Given the description of an element on the screen output the (x, y) to click on. 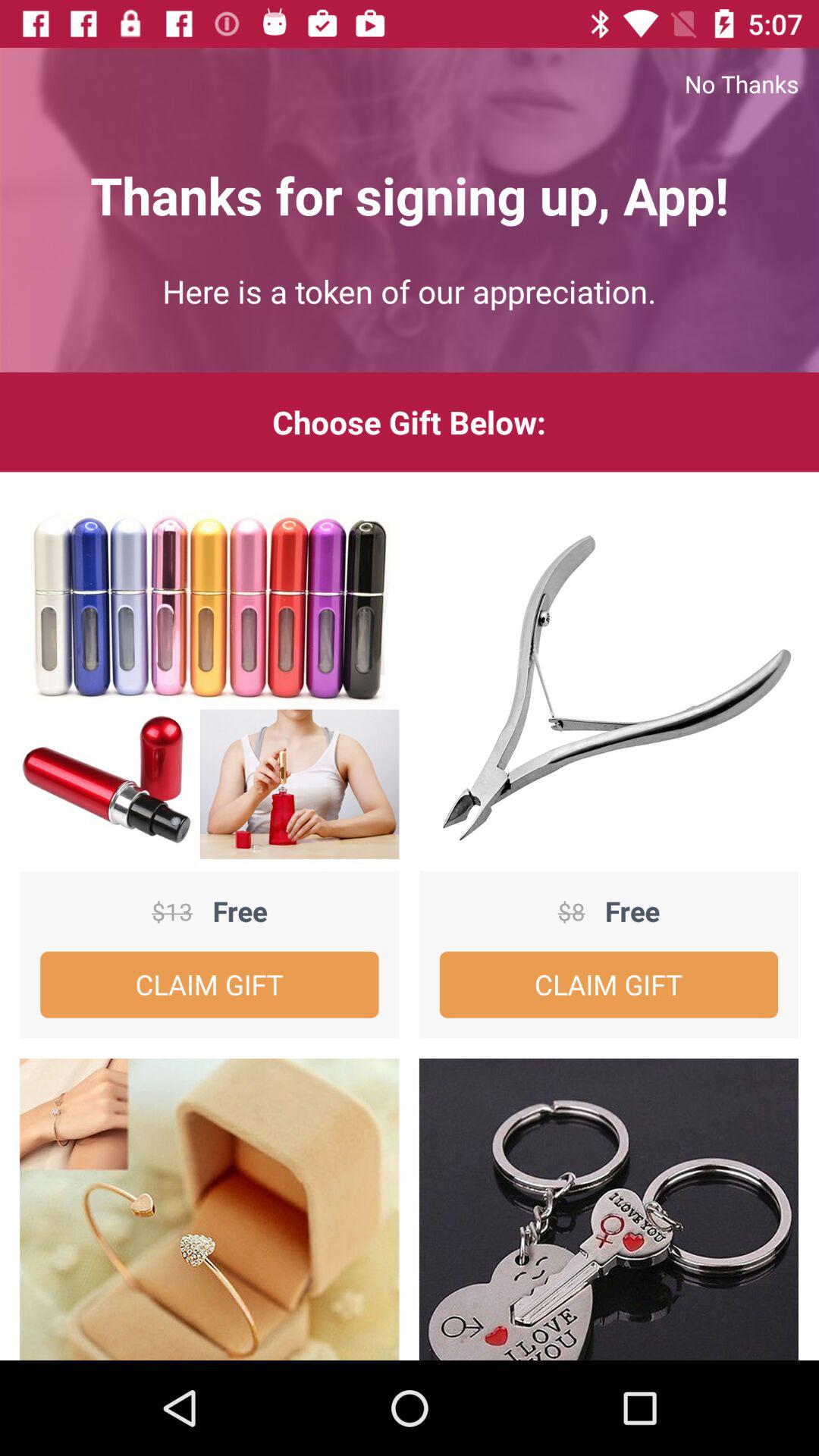
choose the no thanks (409, 83)
